Given the description of an element on the screen output the (x, y) to click on. 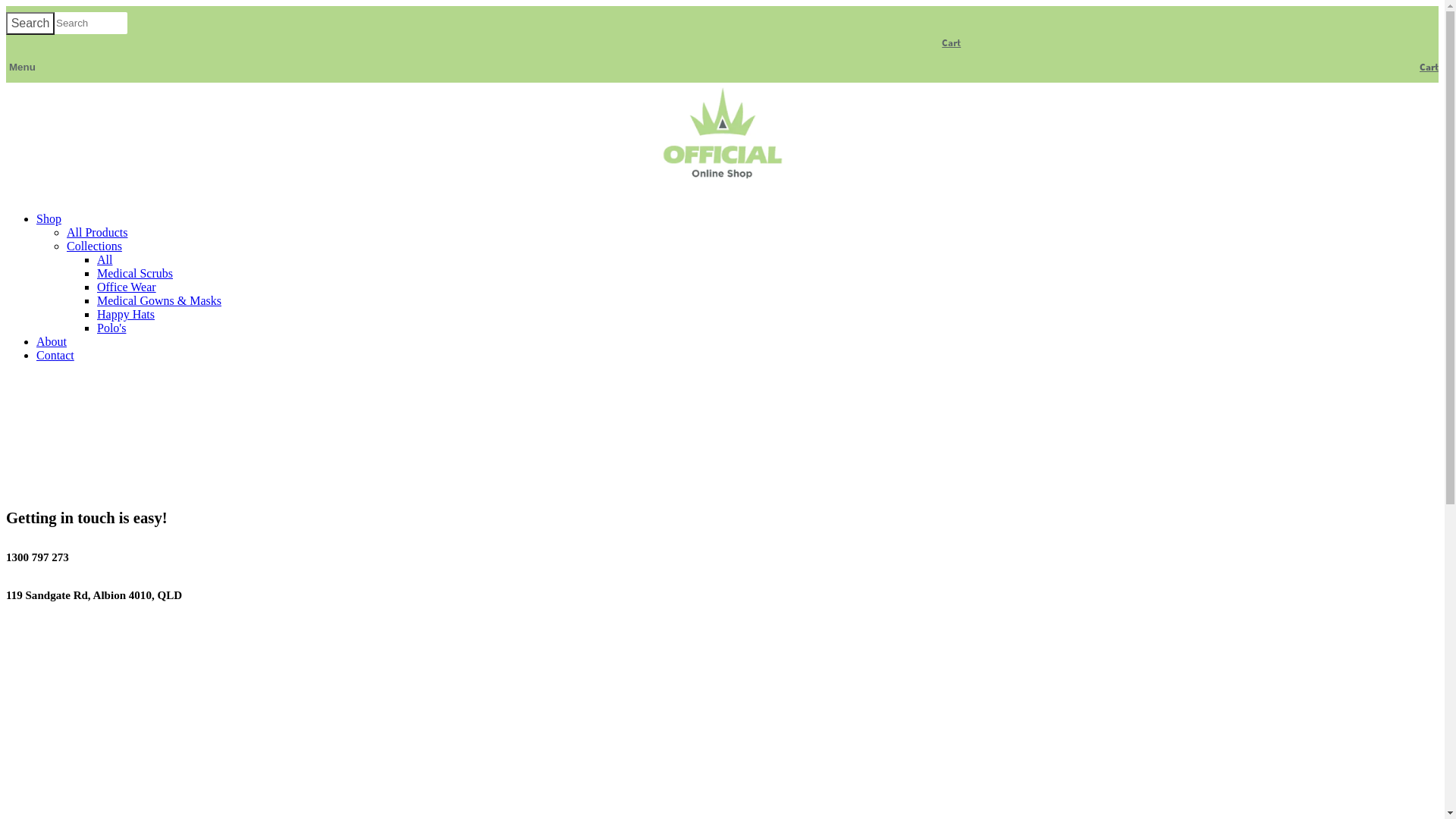
Shop Element type: text (48, 218)
About Element type: text (51, 341)
Happy Hats Element type: text (125, 313)
Cart Element type: text (950, 42)
Search Element type: text (30, 23)
Collections Element type: text (94, 245)
Medical Gowns & Masks Element type: text (159, 300)
Office Wear Element type: text (126, 286)
All Element type: text (104, 259)
Medical Scrubs Element type: text (134, 272)
Cart Element type: text (1425, 67)
Polo's Element type: text (111, 327)
All Products Element type: text (96, 231)
Menu Element type: text (20, 67)
Contact Element type: text (55, 354)
